Given the description of an element on the screen output the (x, y) to click on. 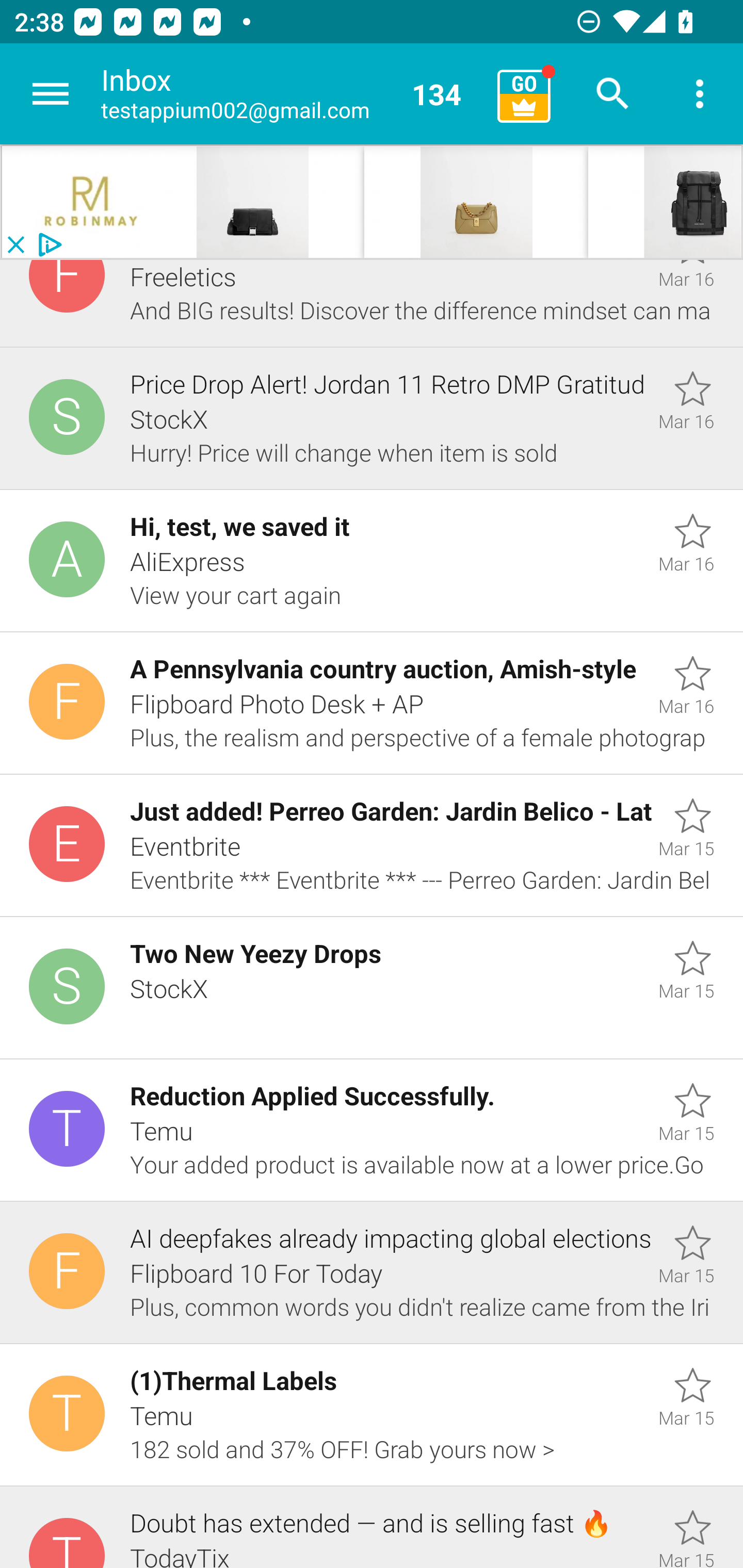
Navigate up (50, 93)
Inbox testappium002@gmail.com 134 (291, 93)
Search (612, 93)
More options (699, 93)
   (91, 202)
   (273, 202)
   (476, 202)
   (664, 202)
close_button (14, 245)
privacy_small (47, 245)
Unread, Two New Yeezy Drops, StockX, Mar 15 (371, 988)
